Given the description of an element on the screen output the (x, y) to click on. 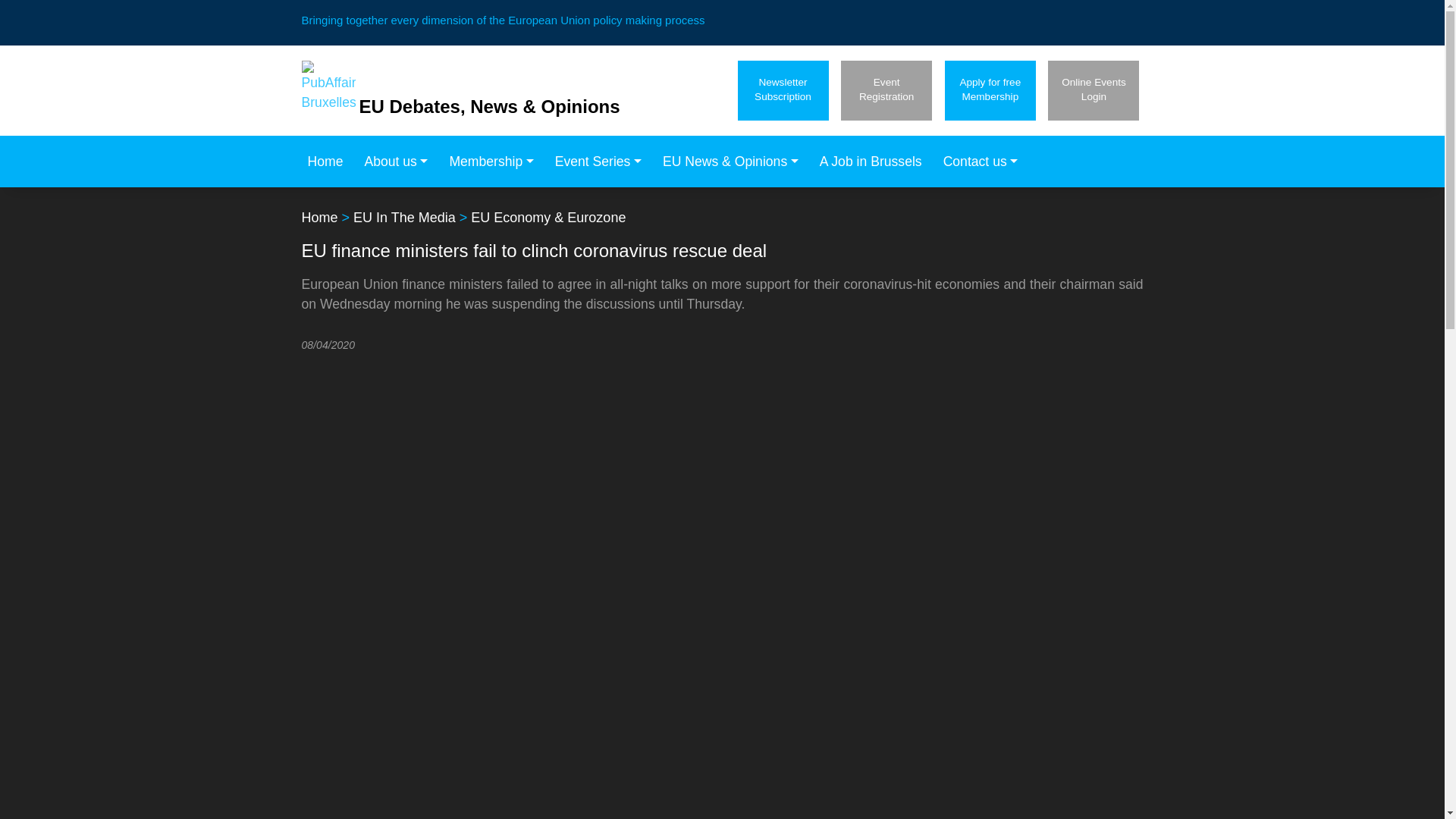
About us (400, 161)
Home (1093, 90)
Membership (329, 161)
Event Series (495, 161)
